Given the description of an element on the screen output the (x, y) to click on. 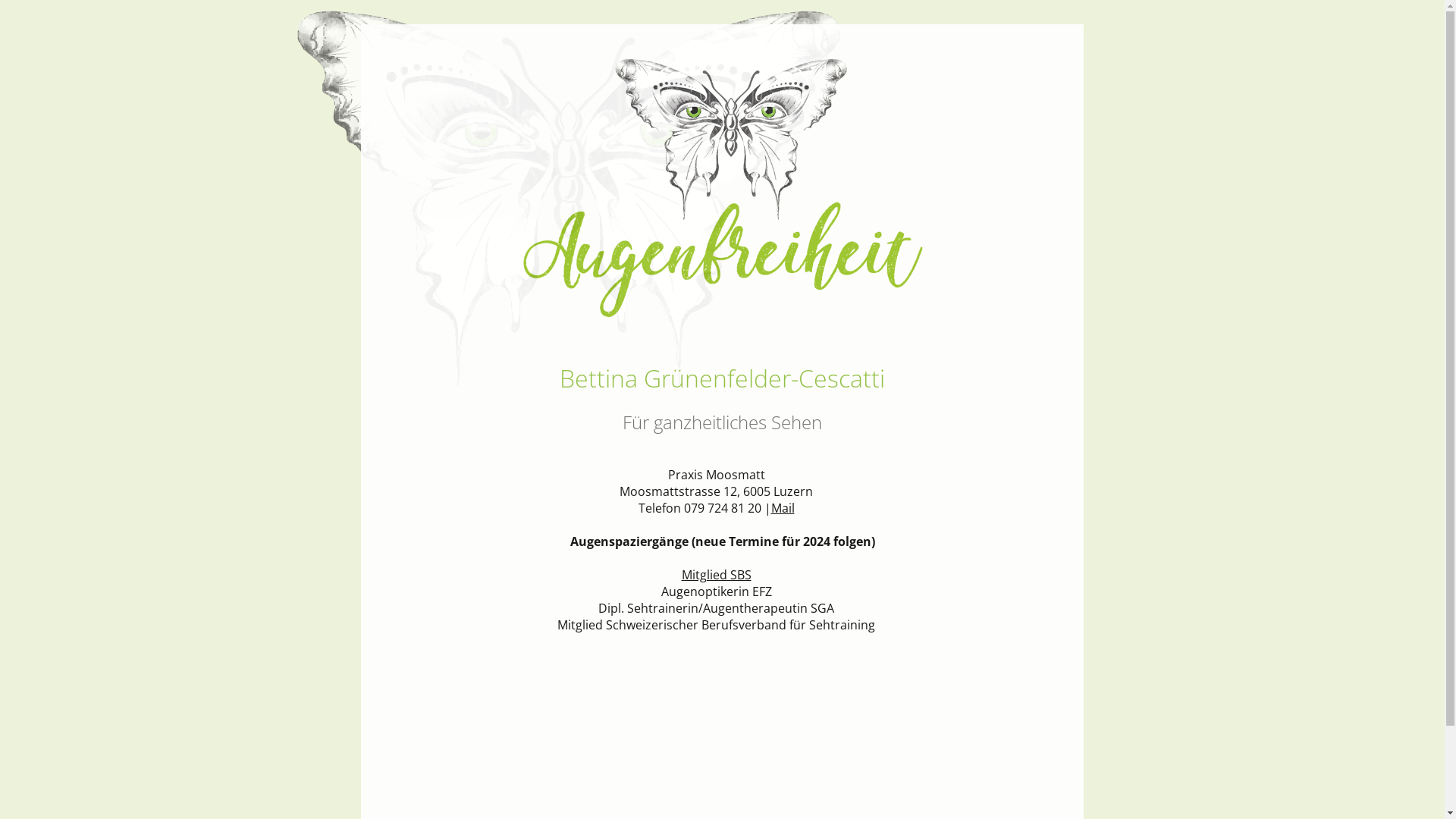
Mail Element type: text (781, 507)
Mitglied SBS Element type: text (715, 574)
